Given the description of an element on the screen output the (x, y) to click on. 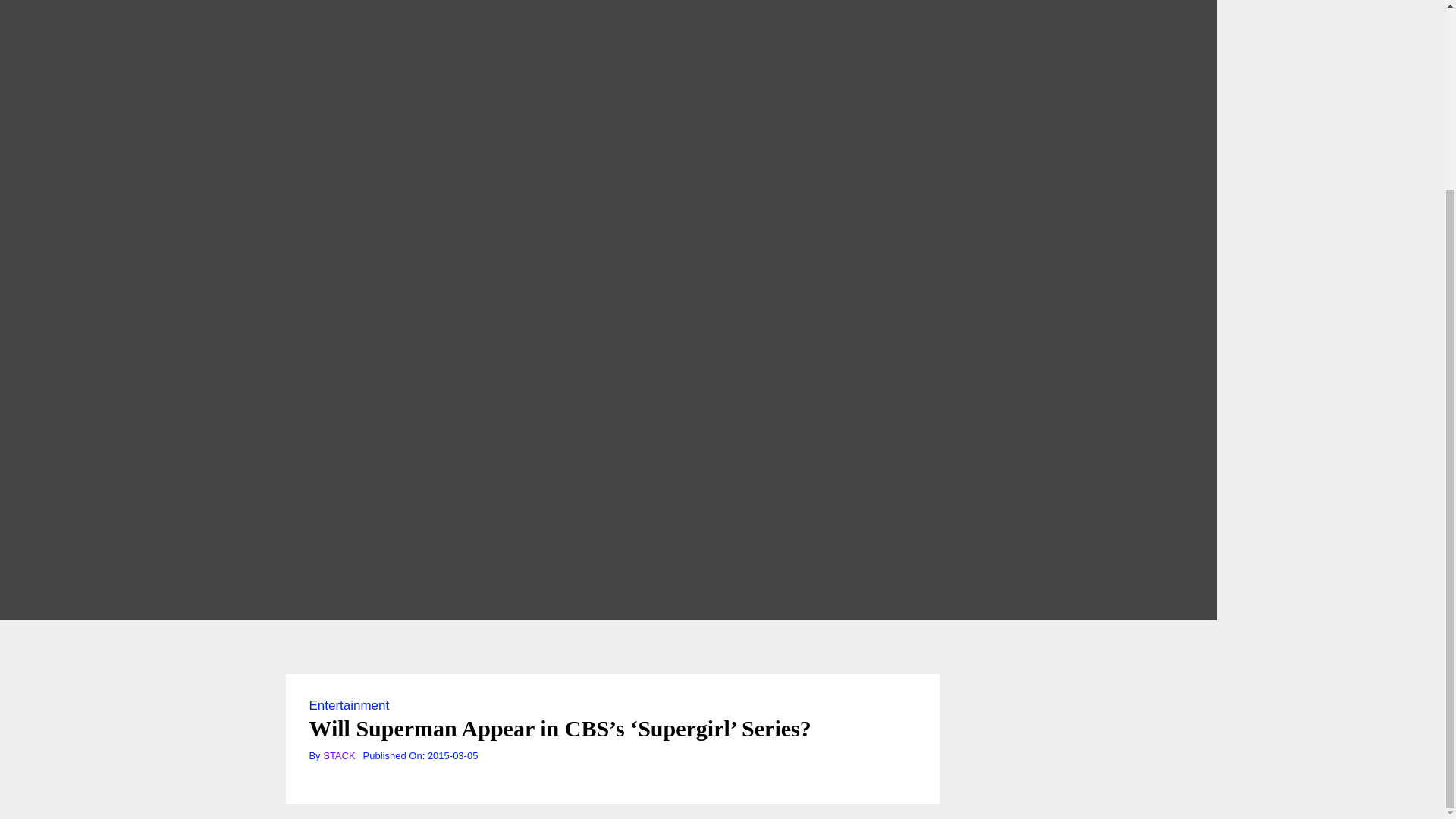
Posts by STACK (339, 755)
Entertainment (348, 705)
